Given the description of an element on the screen output the (x, y) to click on. 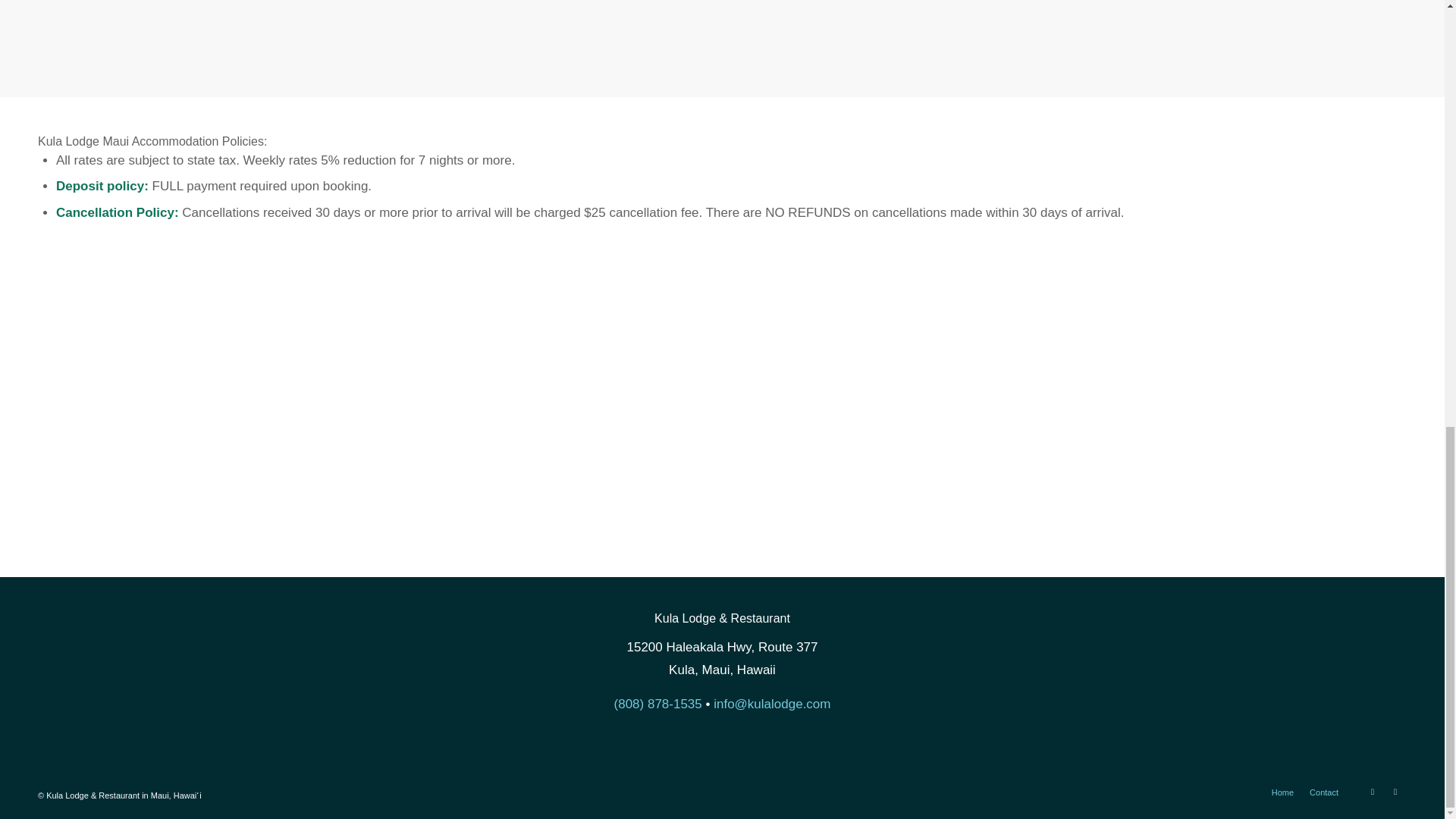
Home (1282, 791)
Instagram (1395, 791)
Contact (1323, 791)
Facebook (1372, 791)
